Given the description of an element on the screen output the (x, y) to click on. 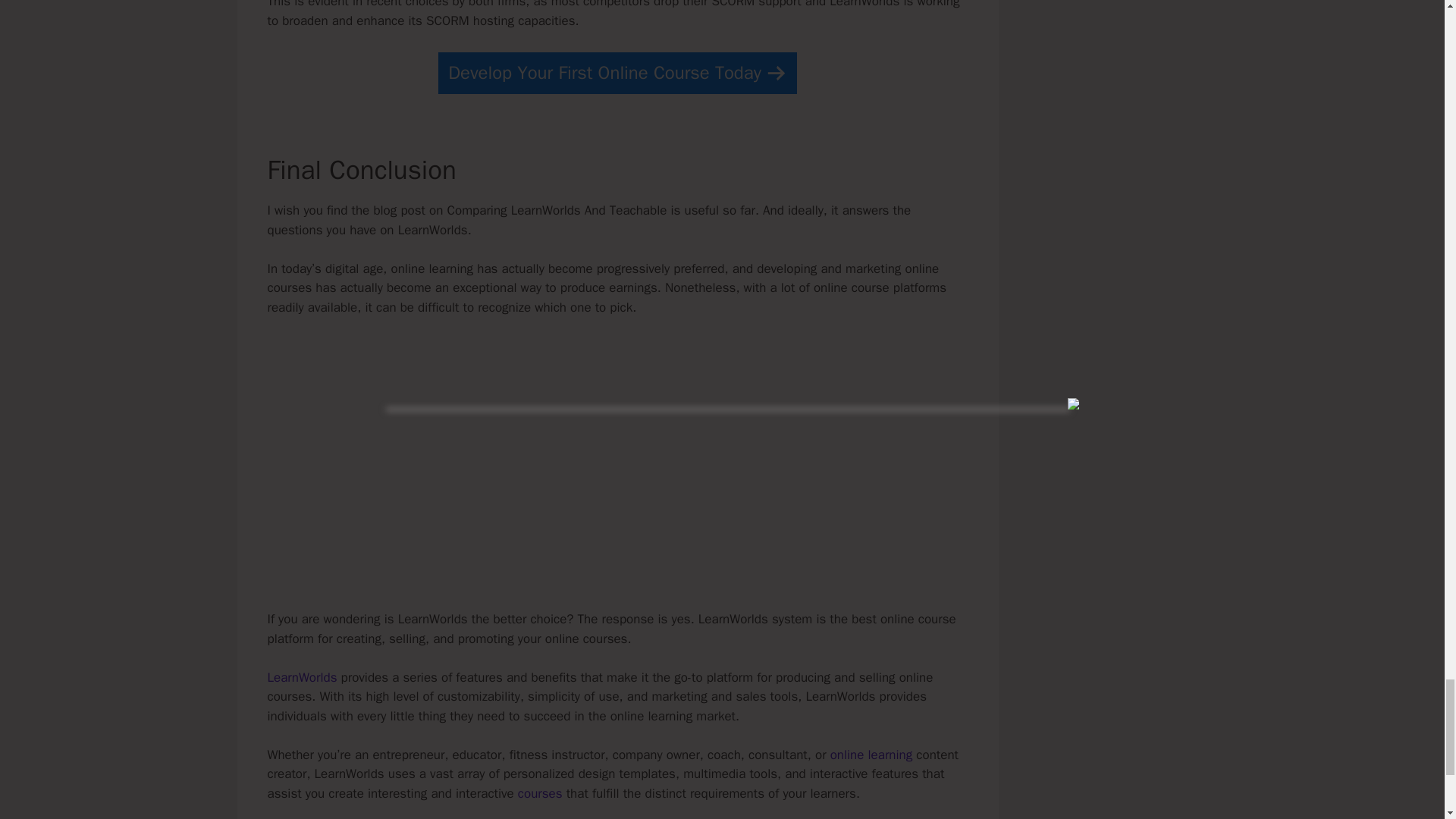
online learning (870, 754)
LearnWorlds (301, 677)
courses (540, 793)
Develop Your First Online Course Today (617, 73)
